Given the description of an element on the screen output the (x, y) to click on. 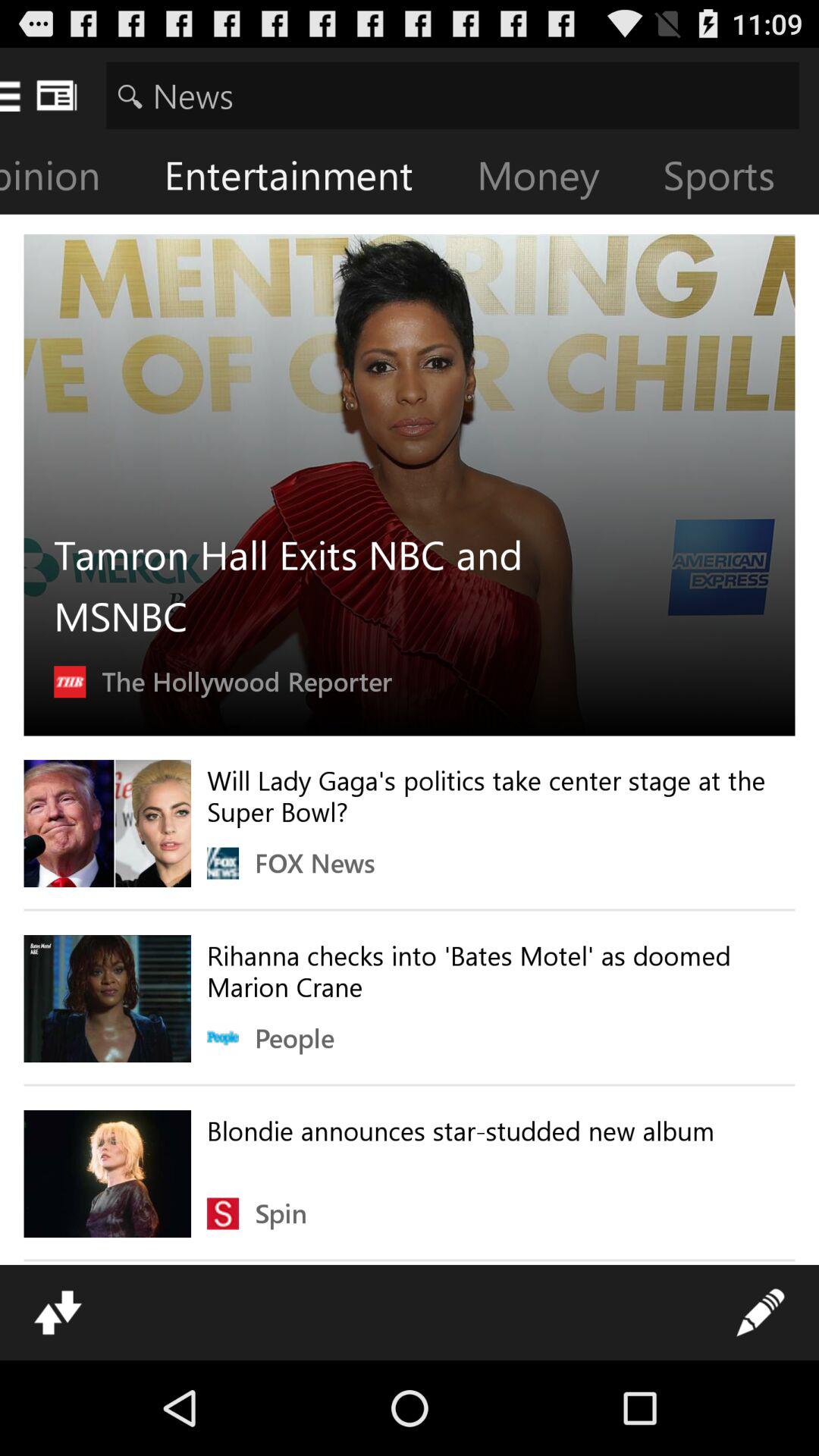
turn off the item to the left of the sports item (550, 178)
